Given the description of an element on the screen output the (x, y) to click on. 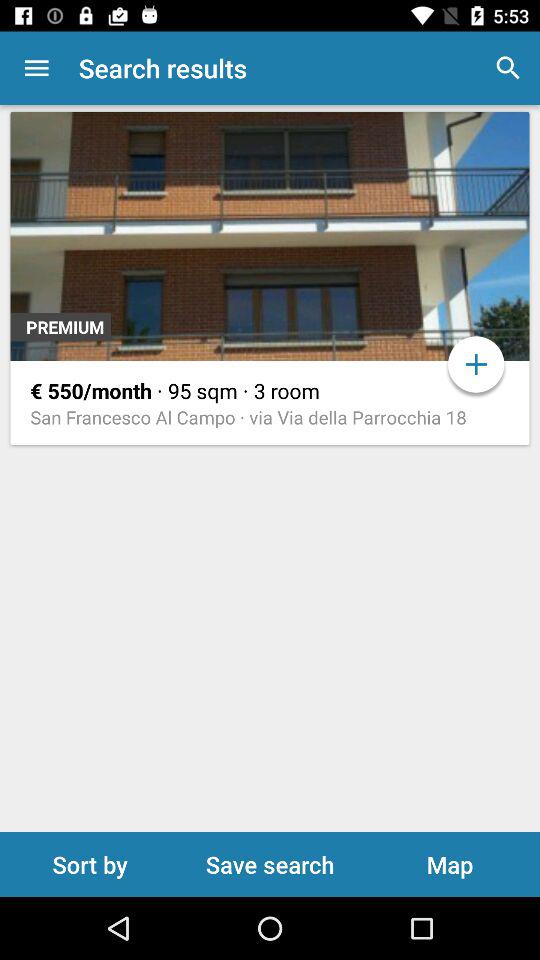
press the icon to the right of sort by item (270, 863)
